Given the description of an element on the screen output the (x, y) to click on. 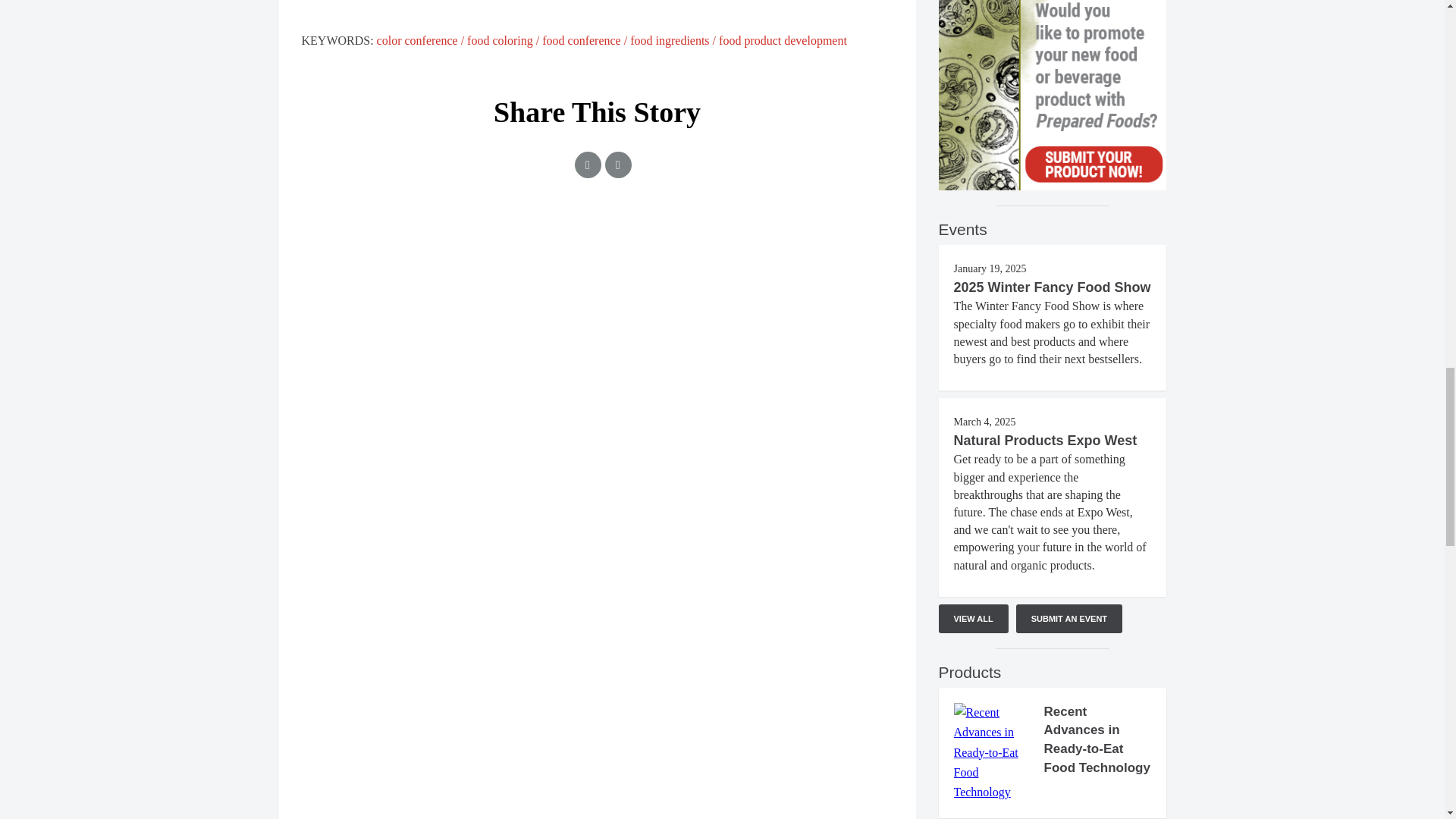
Natural Products Expo West (1045, 440)
2025 Winter Fancy Food Show (1052, 287)
Interaction questions (597, 283)
